Given the description of an element on the screen output the (x, y) to click on. 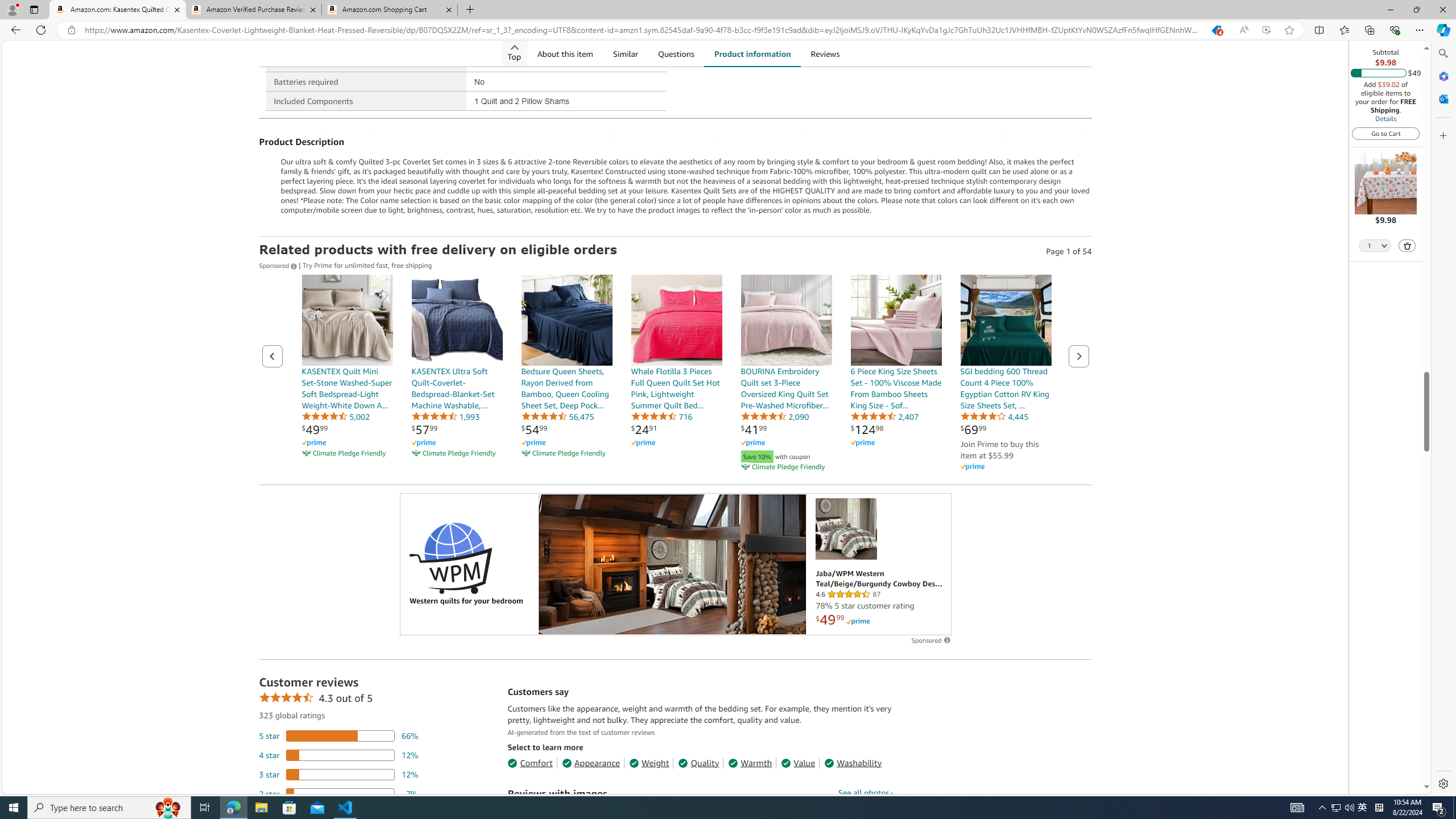
Amazon.com Shopping Cart (390, 9)
$124.98 (866, 429)
Sponsored ad (675, 563)
See all photos (865, 792)
Amazon Prime (971, 466)
12 percent of reviews have 3 stars (339, 774)
56,475 (557, 416)
Join Prime to buy this item at $55.99 (999, 449)
Enhance video (1266, 29)
Product information (751, 53)
